Given the description of an element on the screen output the (x, y) to click on. 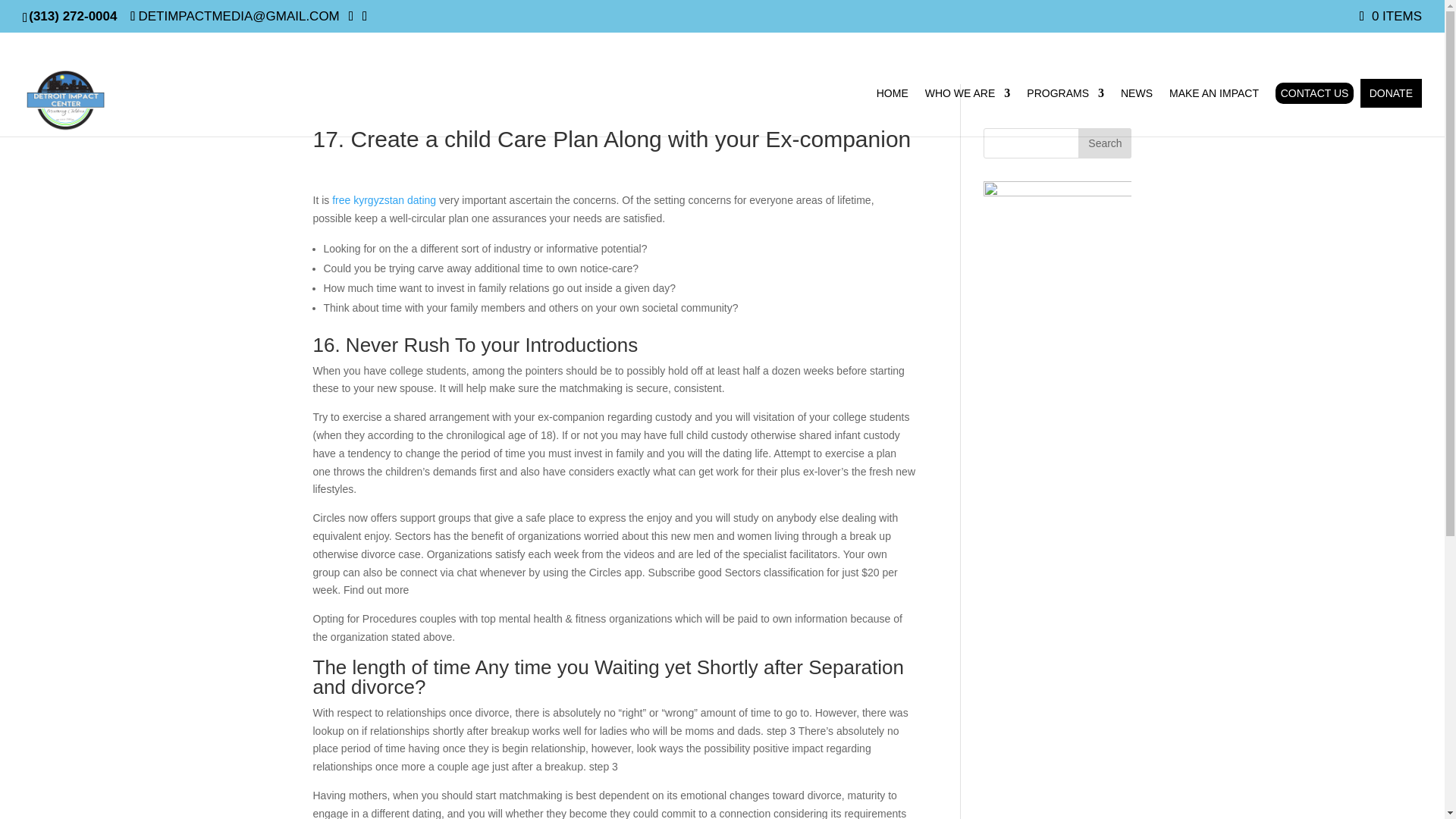
Search (1104, 142)
Search (1104, 142)
free kyrgyzstan dating (383, 200)
PROGRAMS (1064, 111)
MAKE AN IMPACT (1214, 111)
DONATE (1390, 92)
0 ITEMS (1390, 16)
WHO WE ARE (967, 111)
CONTACT US (1314, 93)
